Given the description of an element on the screen output the (x, y) to click on. 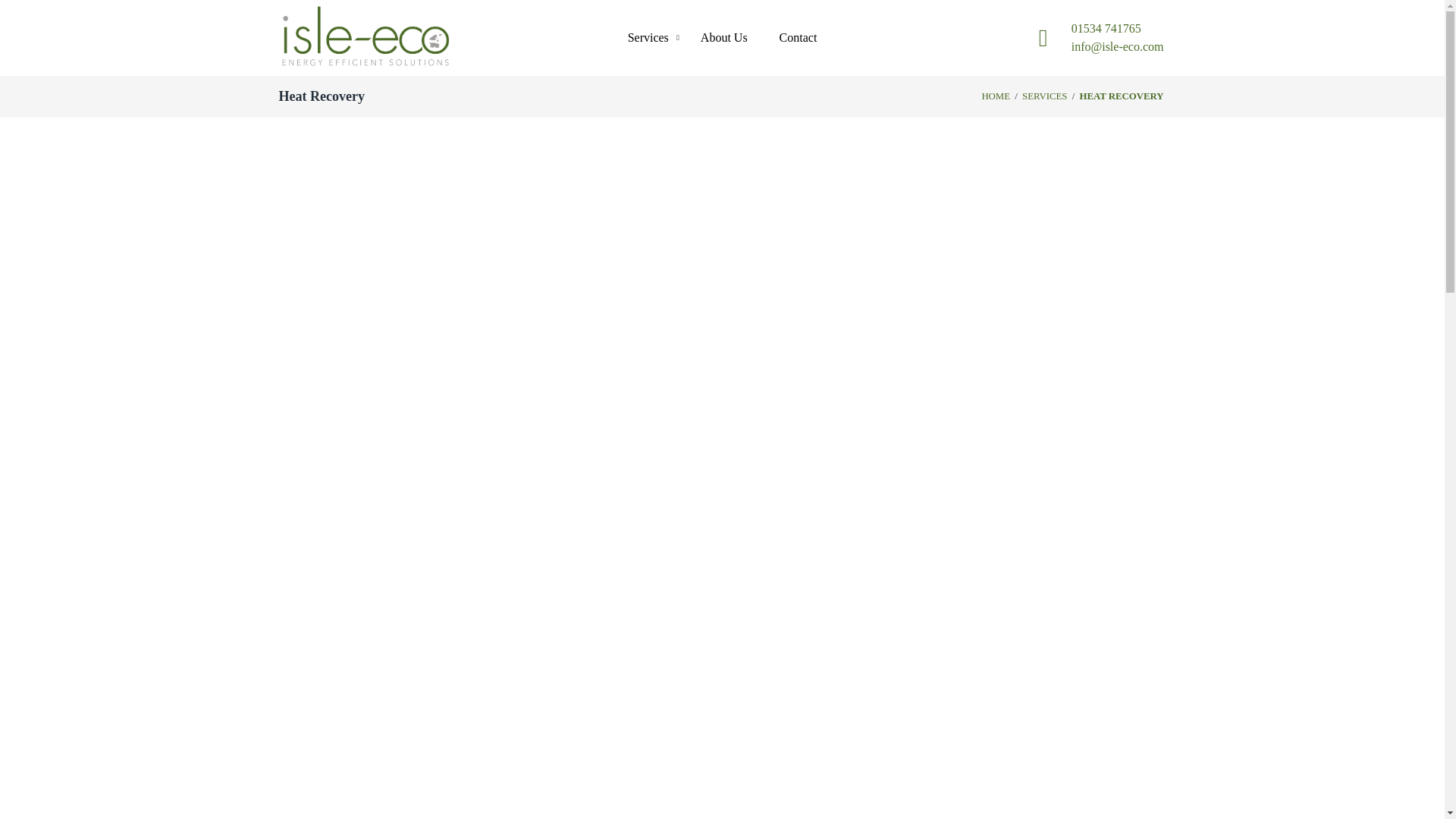
Contact (798, 37)
Services (648, 37)
About Us (724, 37)
